Given the description of an element on the screen output the (x, y) to click on. 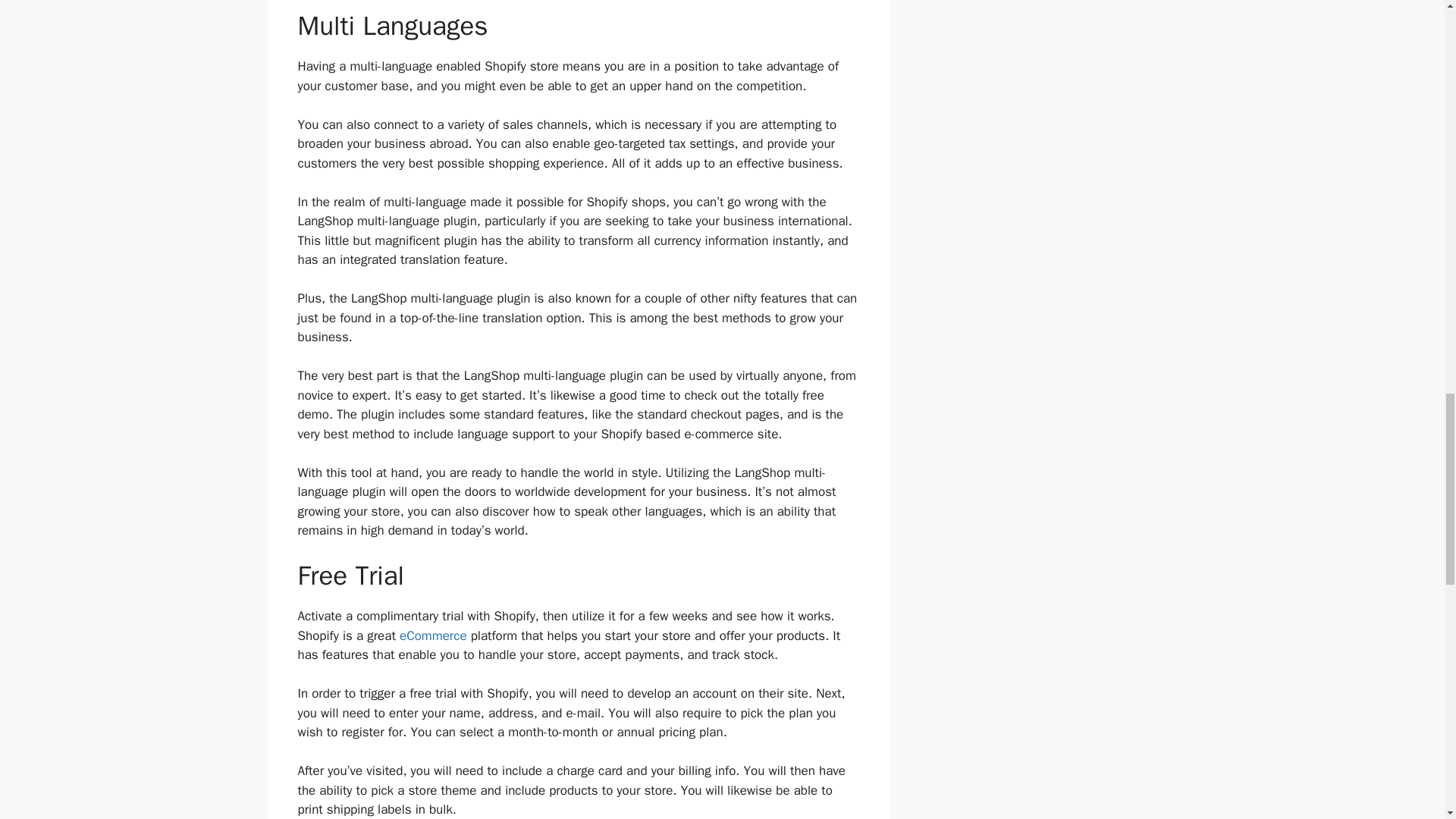
eCommerce (432, 635)
